Given the description of an element on the screen output the (x, y) to click on. 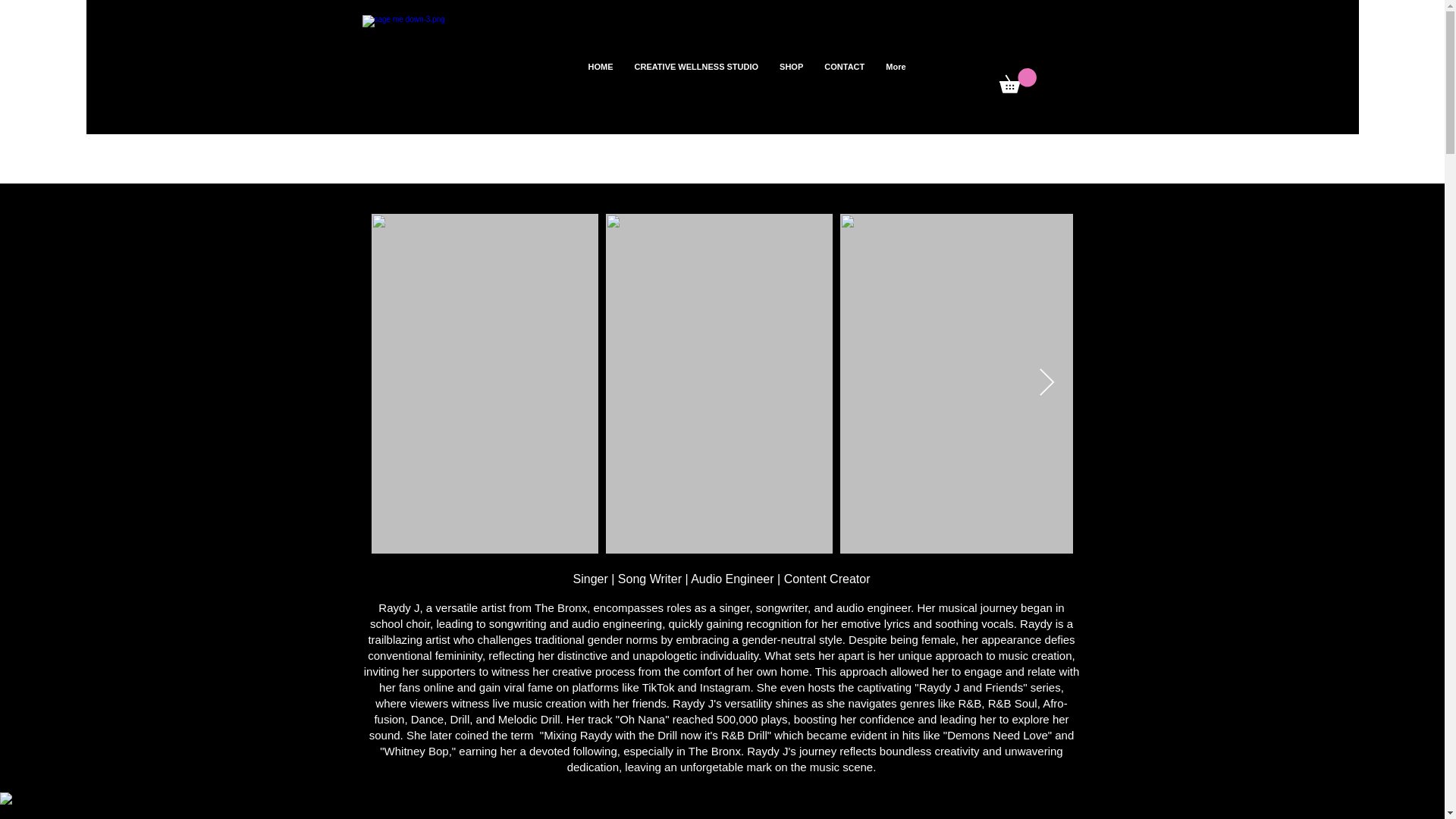
CONTACT (844, 80)
HOME (601, 80)
SHOP (790, 80)
